Given the description of an element on the screen output the (x, y) to click on. 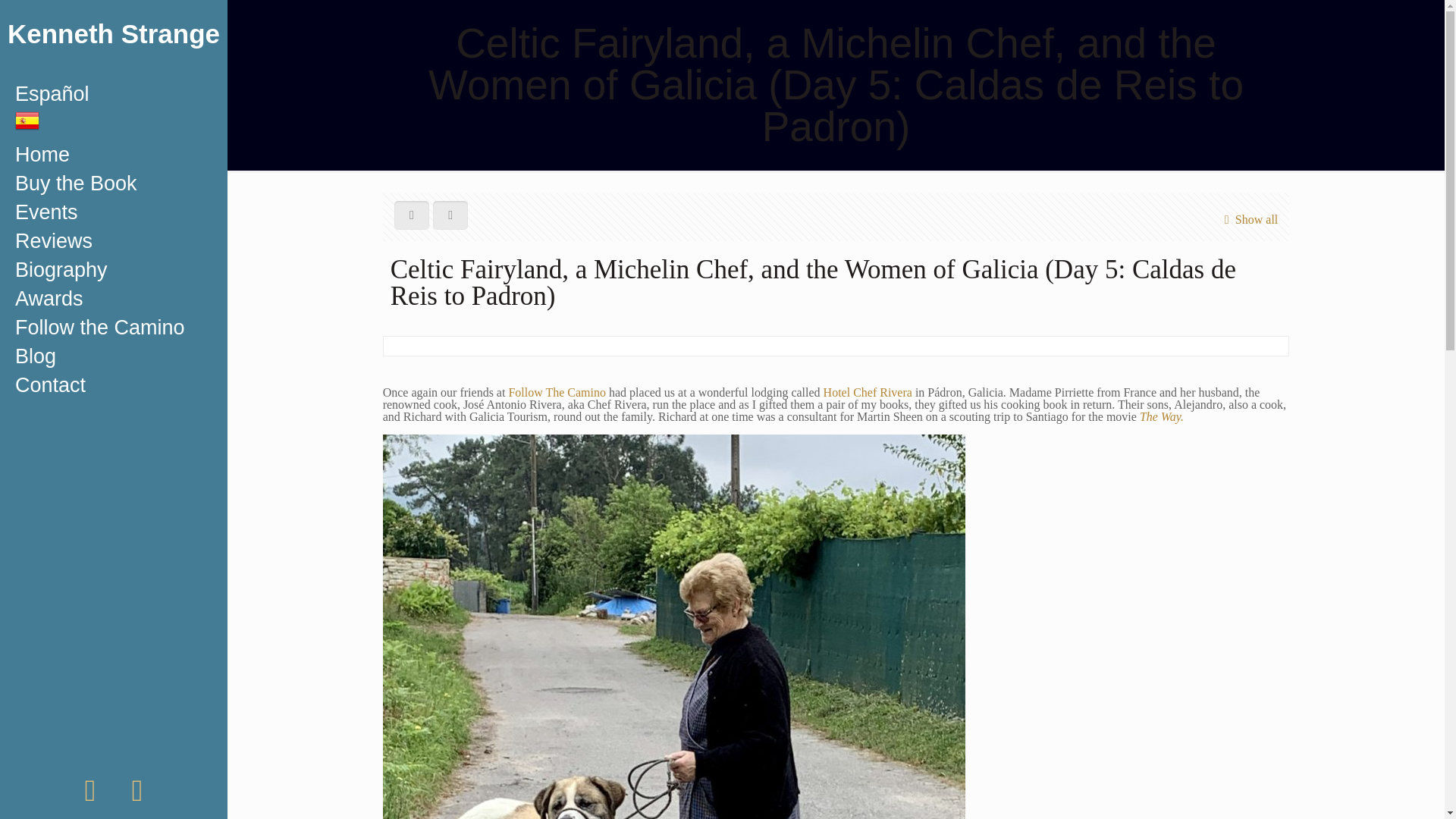
Blog (113, 356)
Events (113, 212)
LinkedIn (137, 797)
The Way. (1161, 416)
Kenneth Strange (113, 39)
Hotel Chef Rivera (868, 391)
Reviews (113, 240)
Biography (113, 269)
Show all (1247, 219)
Buy the Book (113, 183)
